Given the description of an element on the screen output the (x, y) to click on. 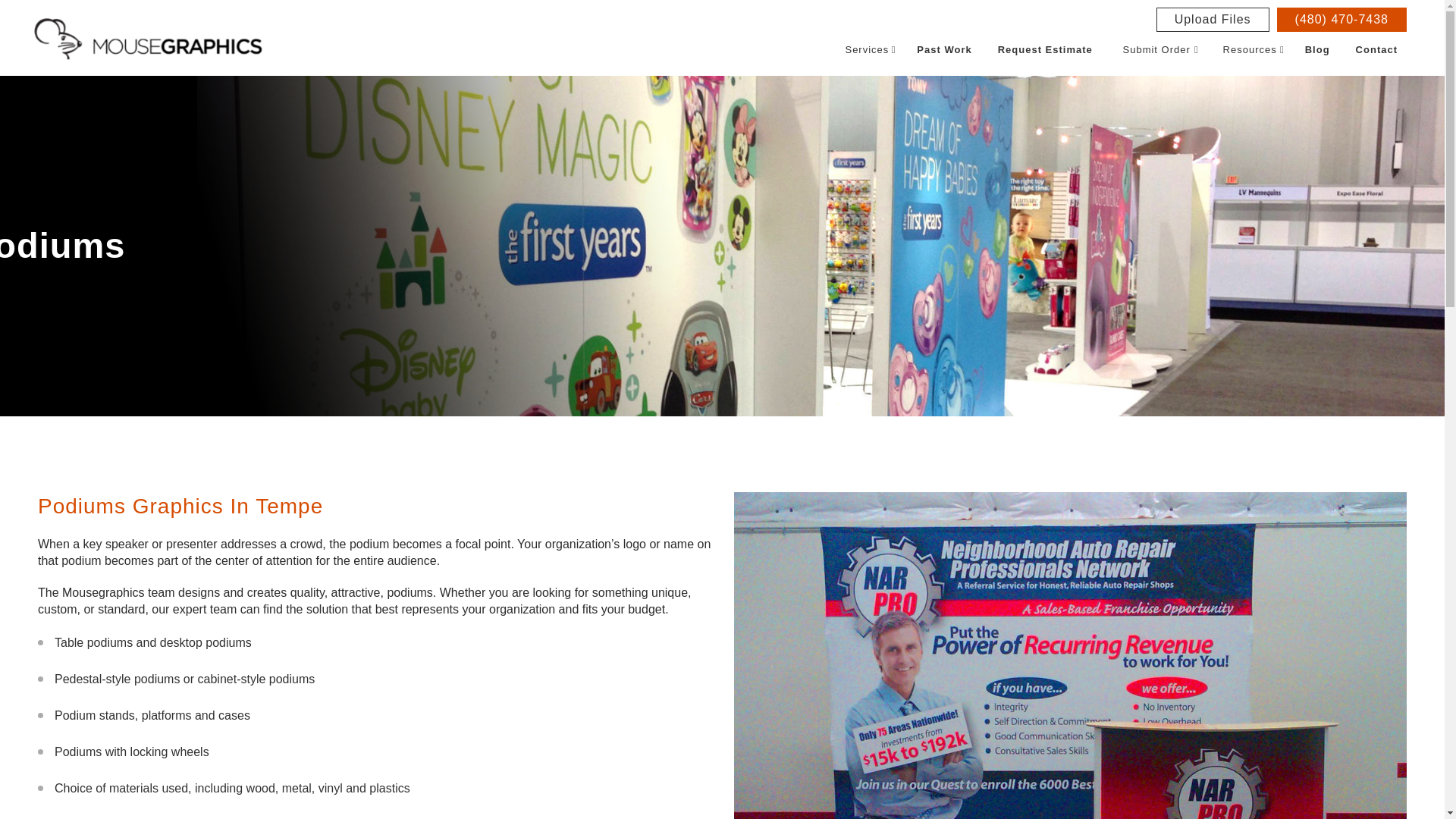
Request Estimate (1045, 49)
Upload Files (1212, 19)
Services (866, 49)
Past Work (944, 49)
Blog (1317, 49)
Contact (1376, 49)
Submit Order (1155, 49)
Resources (1248, 49)
